Given the description of an element on the screen output the (x, y) to click on. 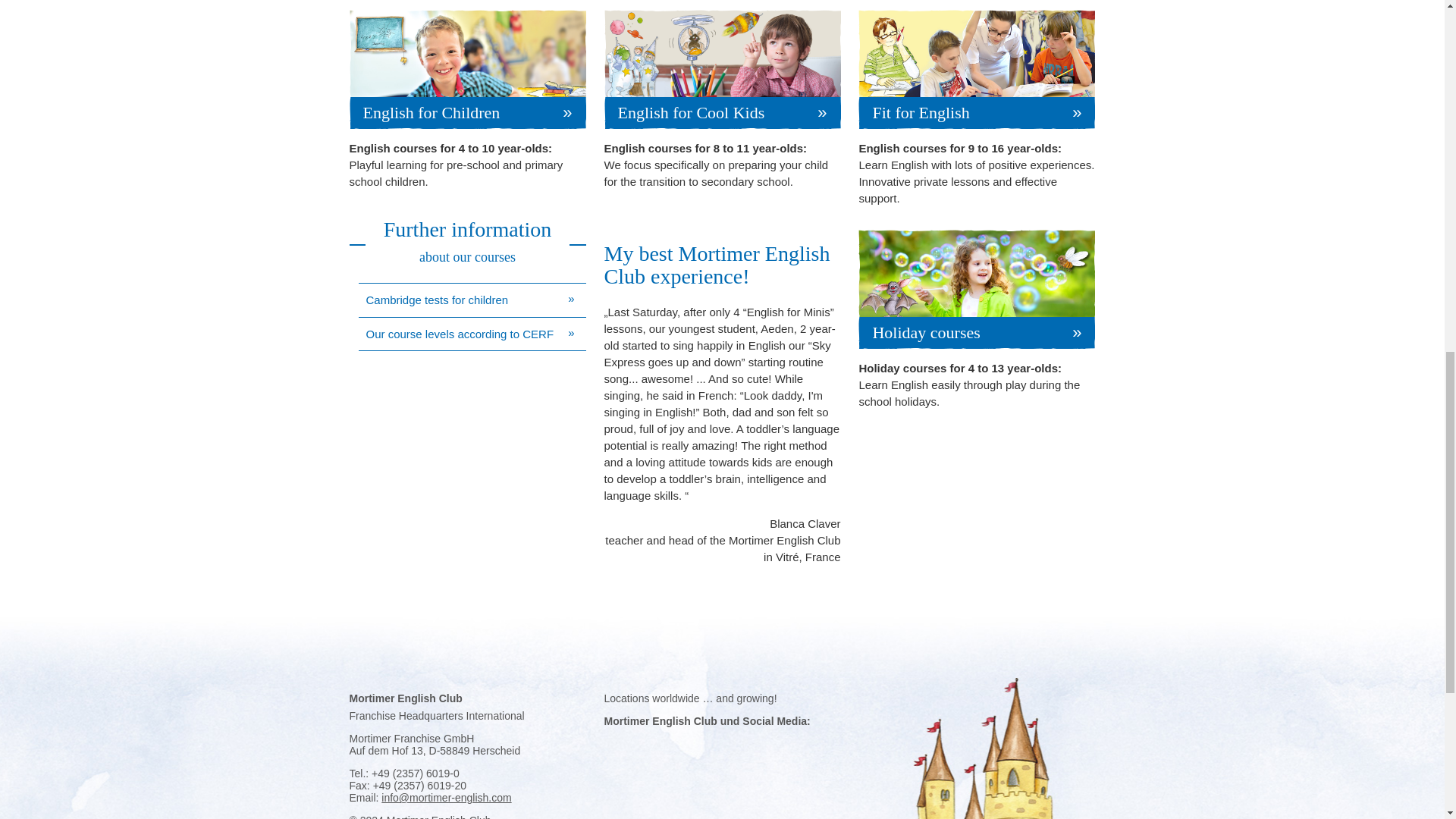
Twitter (668, 743)
Instagram (641, 743)
Facebook (615, 743)
Youtube (695, 743)
Xing (748, 743)
LinkedIn (721, 743)
